Given the description of an element on the screen output the (x, y) to click on. 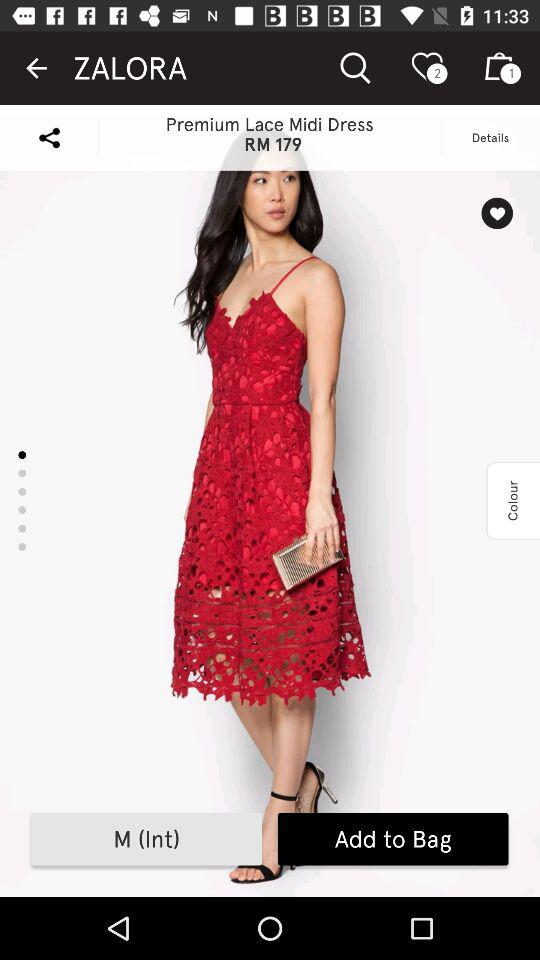
share (49, 137)
